Given the description of an element on the screen output the (x, y) to click on. 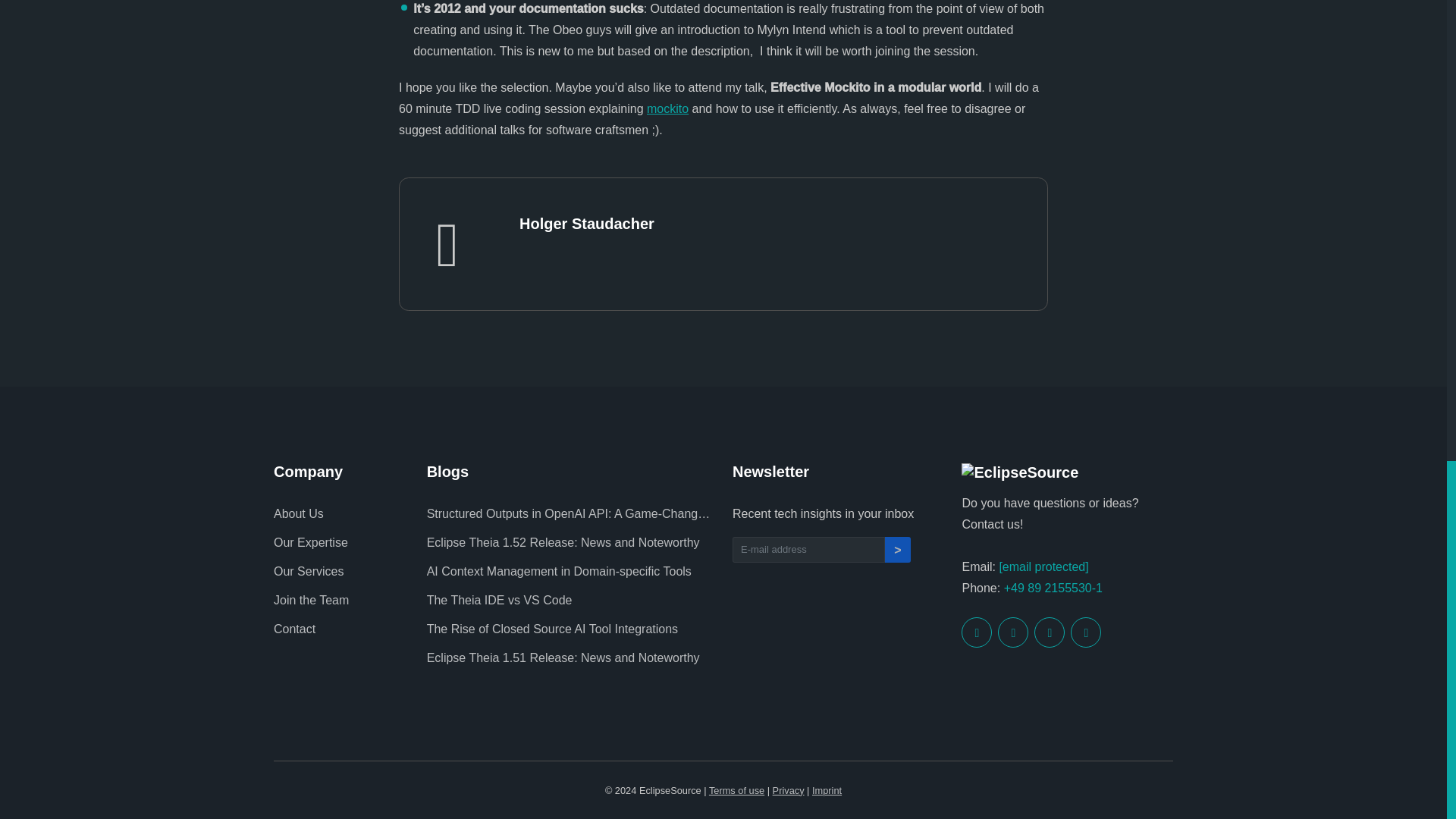
linkedin (1085, 632)
github (1048, 632)
Join the Team (341, 600)
Our Expertise (341, 542)
facebook (1012, 632)
twitter (975, 632)
Our Services (341, 571)
About Us (341, 513)
Contact (341, 629)
